Given the description of an element on the screen output the (x, y) to click on. 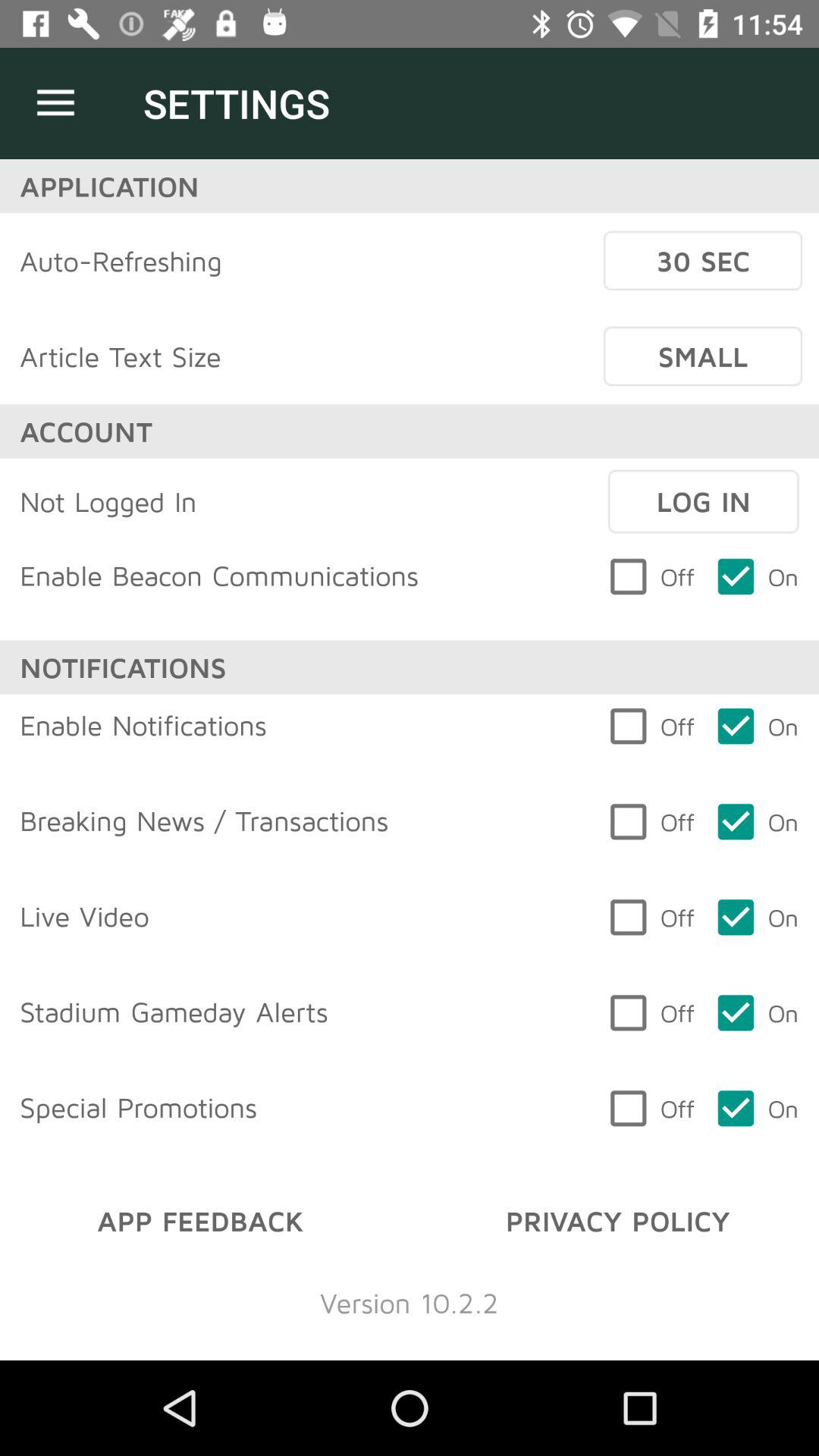
press icon next to the settings icon (55, 103)
